Given the description of an element on the screen output the (x, y) to click on. 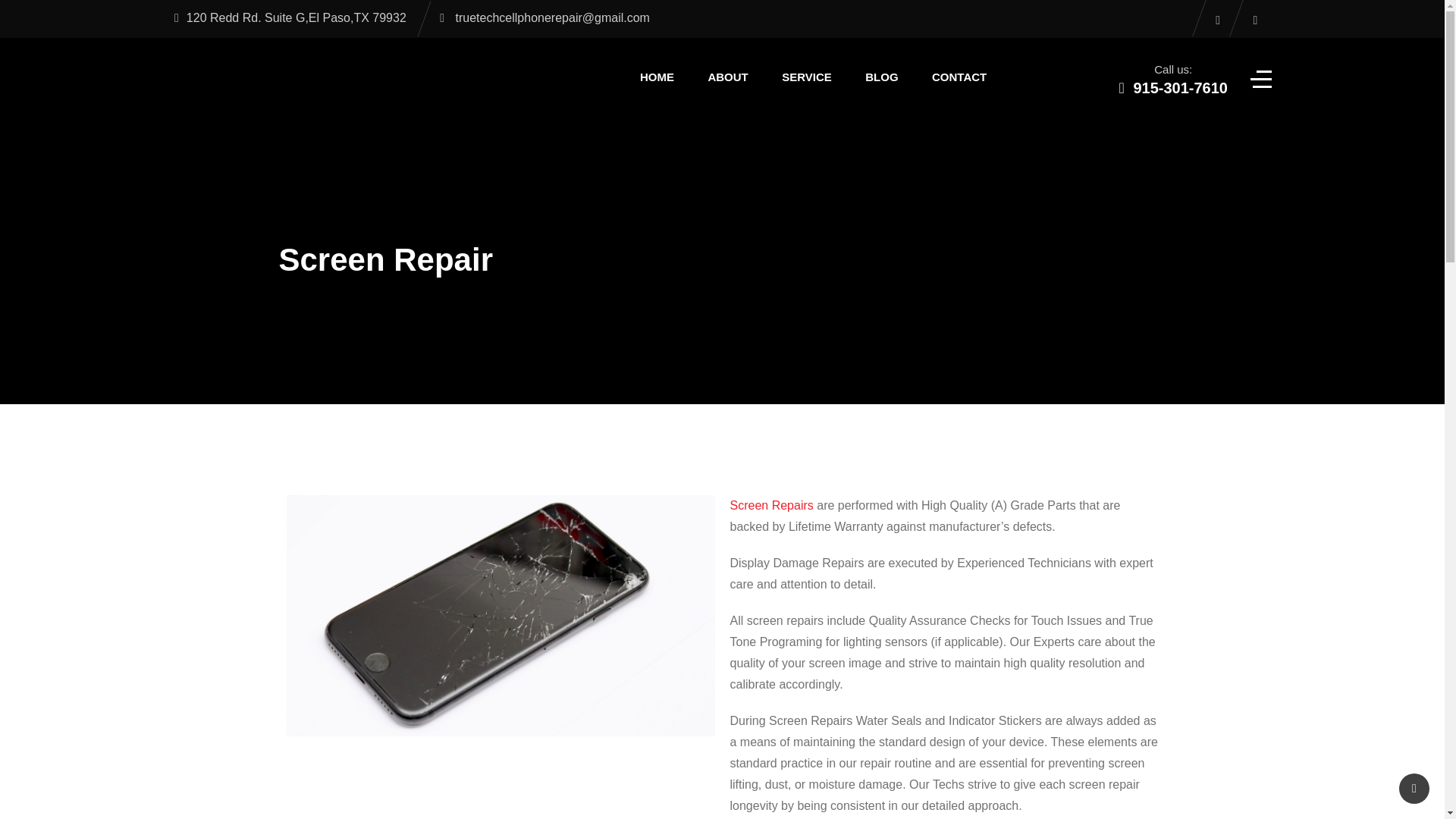
SERVICE (807, 77)
Screen Repairs (770, 504)
ABOUT (727, 77)
CONTACT (959, 77)
